Given the description of an element on the screen output the (x, y) to click on. 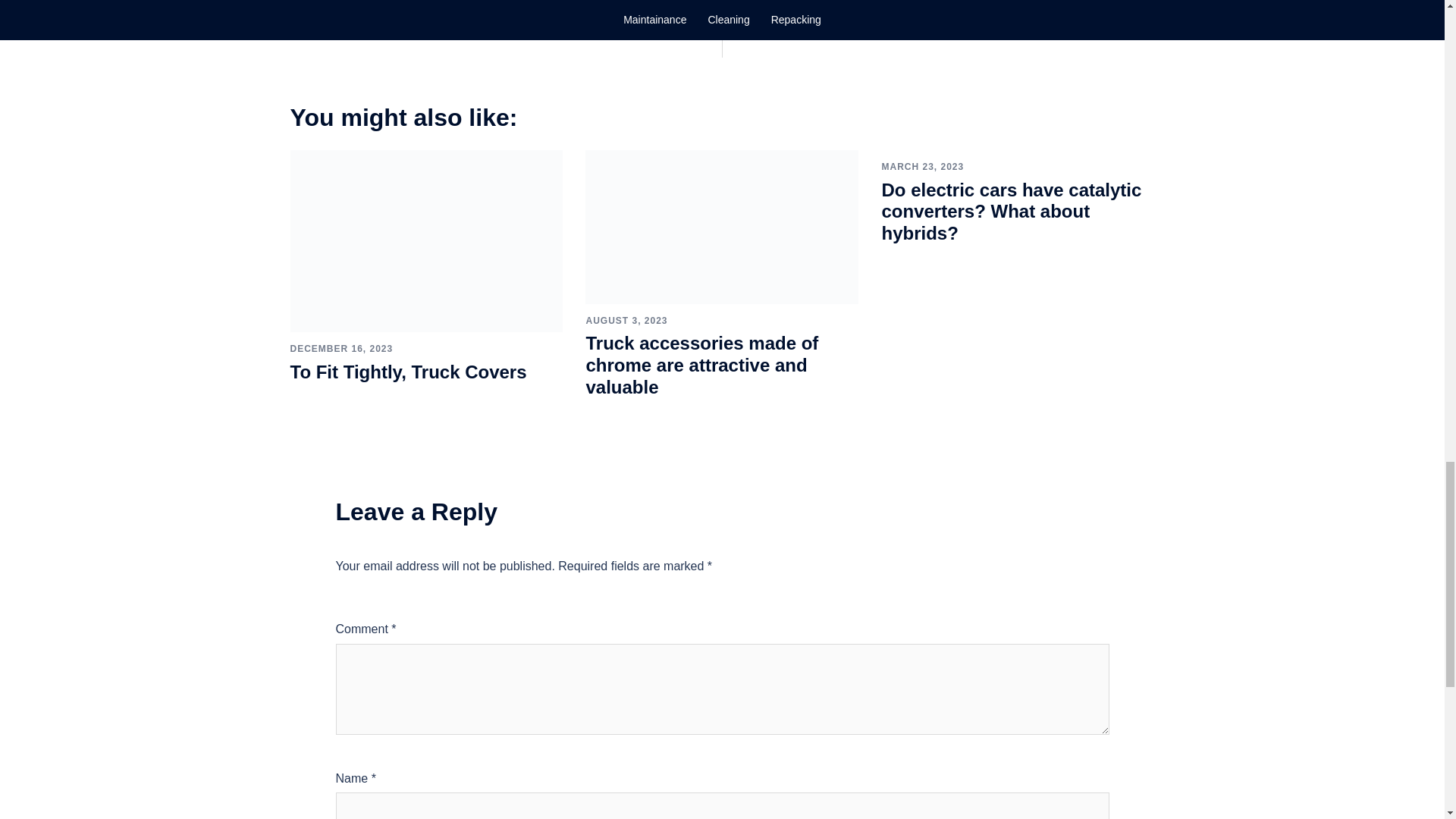
AUGUST 3, 2023 (625, 320)
Truck accessories made of chrome are attractive and valuable (722, 226)
To Fit Tightly, Truck Covers (407, 371)
DECEMBER 16, 2023 (341, 348)
To Fit Tightly, Truck Covers (425, 240)
Vehicle and Car Videos Application, MotoMint (469, 23)
Truck accessories made of chrome are attractive and valuable (701, 364)
MARCH 23, 2023 (921, 166)
Key Points to Bear in Mind When Leasing a Car in Singapore (932, 23)
